Given the description of an element on the screen output the (x, y) to click on. 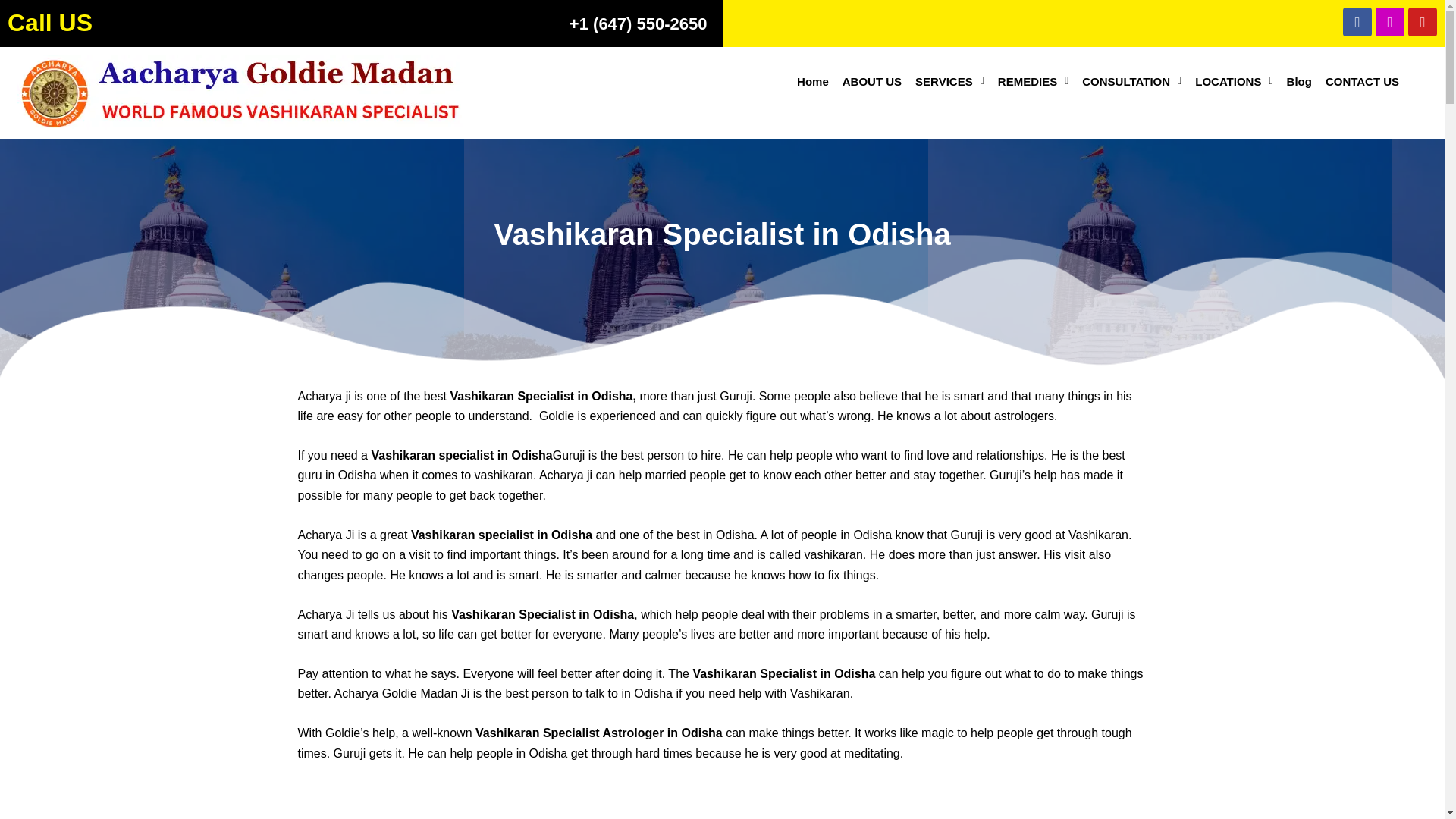
LOCATIONS (1233, 81)
Facebook (1356, 21)
Home (812, 81)
ABOUT US (871, 81)
CONSULTATION (1131, 81)
REMEDIES (1033, 81)
Youtube (1422, 21)
SERVICES (949, 81)
Instagram (1390, 21)
